Given the description of an element on the screen output the (x, y) to click on. 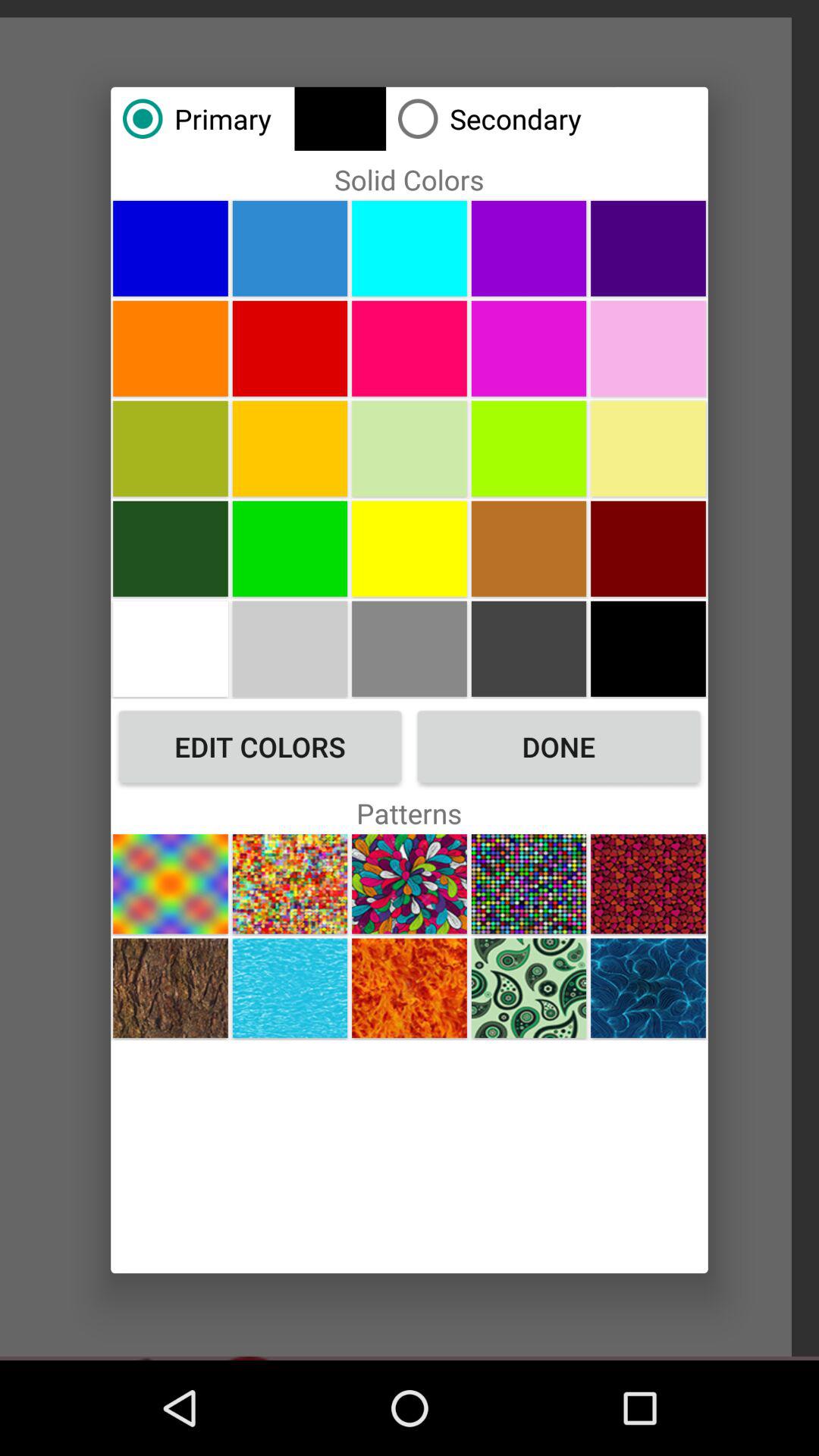
select blue pattern (289, 987)
